Given the description of an element on the screen output the (x, y) to click on. 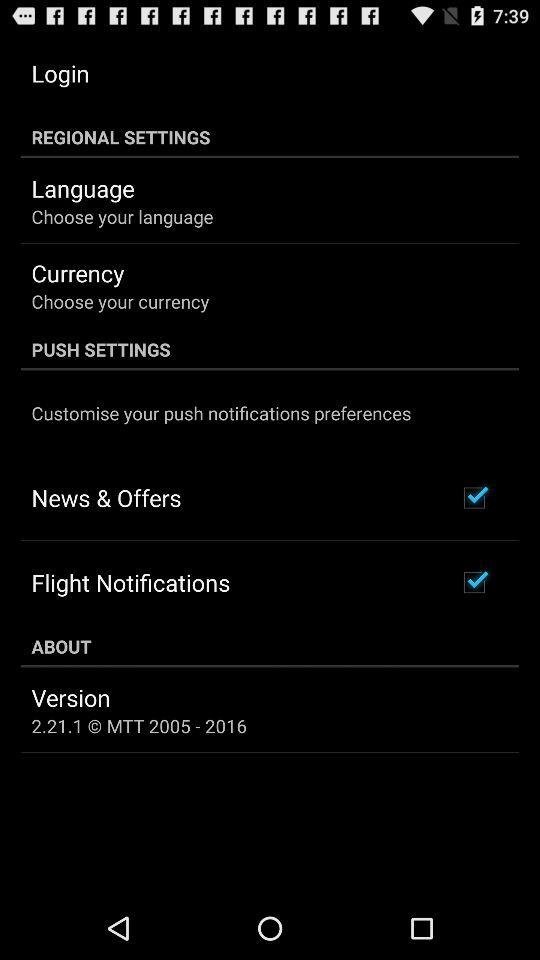
select the item above about icon (130, 582)
